Given the description of an element on the screen output the (x, y) to click on. 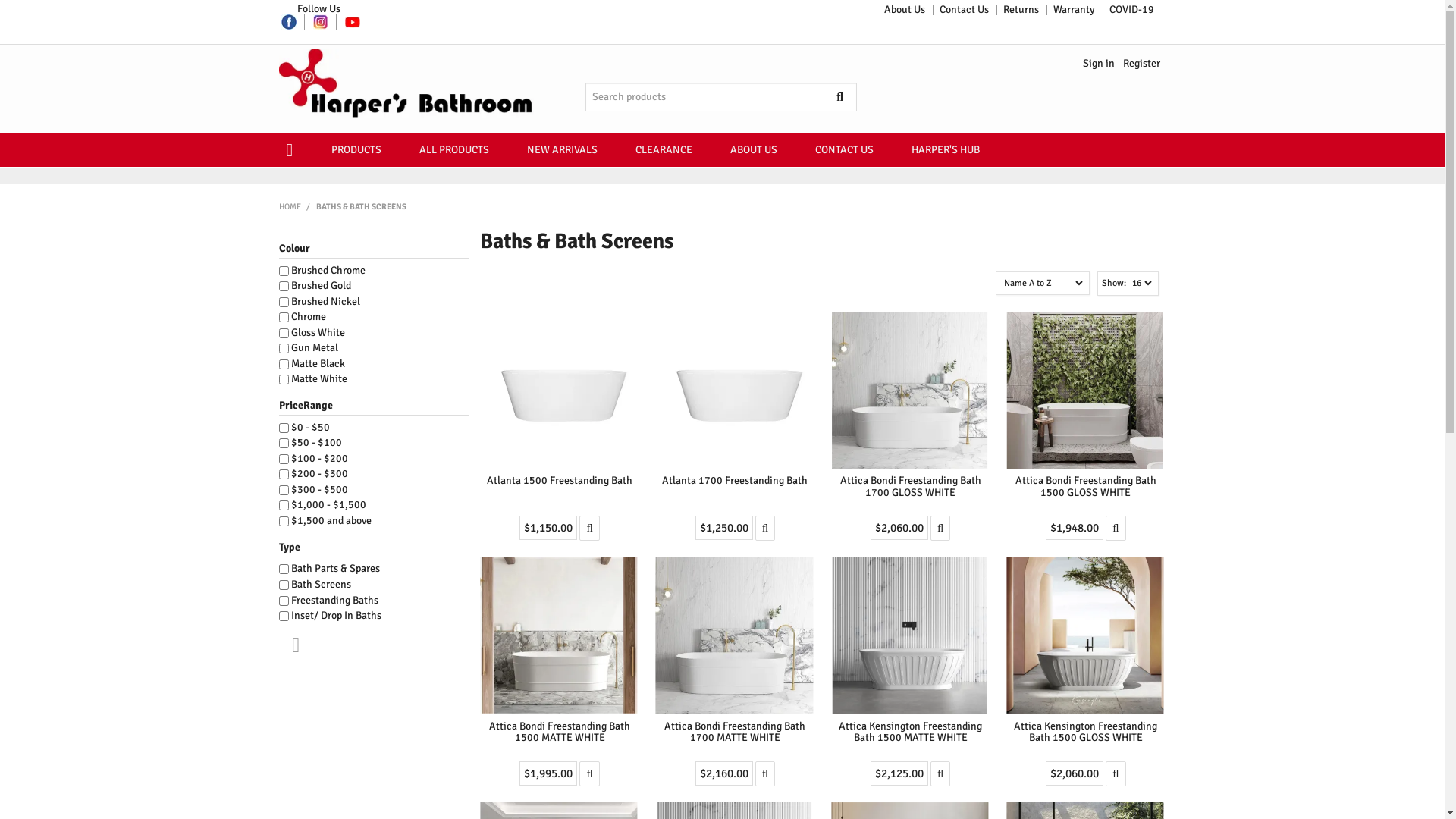
Atlanta 1700 Freestanding Bath Element type: hover (733, 389)
ABOUT US Element type: text (753, 149)
PRODUCTS Element type: text (356, 149)
CONTACT US Element type: text (844, 149)
$1,250.00 Element type: text (723, 527)
MORE INFO Element type: text (589, 773)
MORE INFO Element type: text (589, 527)
HOME Element type: text (295, 149)
Attica Kensington Freestanding Bath 1500 GLOSS WHITE Element type: hover (1084, 634)
$2,160.00 Element type: text (723, 773)
Returns Element type: text (1020, 9)
NEW ARRIVALS Element type: text (562, 149)
COVID-19 Element type: text (1131, 9)
Attica Bondi Freestanding Bath 1700  MATTE WHITE Element type: hover (733, 634)
Register Element type: text (1141, 63)
Attica Bondi Freestanding Bath 1500  MATTE WHITE Element type: hover (558, 635)
Search Element type: text (849, 96)
Attica Kensington Freestanding  Bath 1500 MATTE WHITE Element type: hover (909, 634)
Warranty Element type: text (1074, 9)
HOME Element type: text (290, 206)
MORE INFO Element type: text (765, 527)
CLEARANCE Element type: text (662, 149)
Sign in Element type: text (1098, 63)
MORE INFO Element type: text (940, 773)
$1,995.00 Element type: text (548, 773)
Atlanta 1700 Freestanding Bath Element type: text (734, 479)
Attica Kensington Freestanding Bath 1500 GLOSS WHITE Element type: text (1085, 731)
About Us Element type: text (904, 9)
HARPER'S HUB Element type: text (944, 149)
Attica Bondi Freestanding  Bath 1700 GLOSS WHITE Element type: hover (909, 389)
Attica Bondi Freestanding Bath 1500  GLOSS WHITE Element type: hover (1085, 389)
Attica Bondi Freestanding Bath 1500 GLOSS WHITE Element type: text (1085, 485)
Contact Us Element type: text (963, 9)
Attica Bondi Freestanding Bath 1500 MATTE WHITE Element type: text (559, 731)
MORE INFO Element type: text (765, 773)
$2,125.00 Element type: text (899, 773)
MORE INFO Element type: text (940, 527)
Atlanta 1500 Freestanding Bath Element type: hover (558, 389)
MORE INFO Element type: text (1115, 527)
Atlanta 1500 Freestanding Bath Element type: text (559, 479)
Attica Kensington Freestanding Bath 1500 MATTE WHITE Element type: text (910, 731)
Attica Bondi Freestanding Bath 1700 MATTE WHITE Element type: text (734, 731)
Attica Bondi Freestanding Bath 1700 GLOSS WHITE Element type: text (910, 485)
MORE INFO Element type: text (1115, 773)
$2,060.00 Element type: text (899, 527)
$1,150.00 Element type: text (548, 527)
RESET Element type: text (289, 644)
ALL PRODUCTS Element type: text (454, 149)
$2,060.00 Element type: text (1074, 773)
$1,948.00 Element type: text (1074, 527)
